Given the description of an element on the screen output the (x, y) to click on. 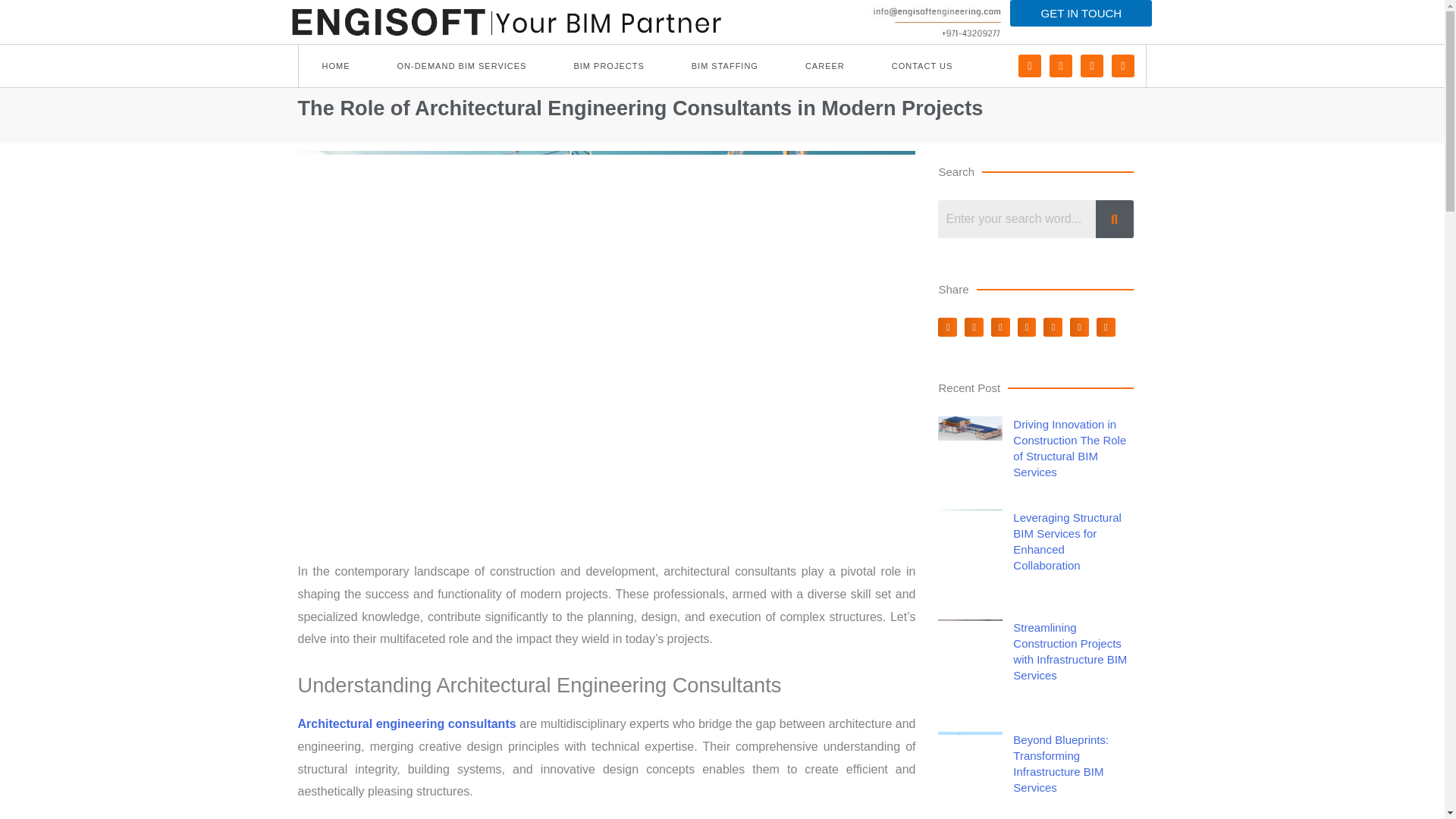
CAREER (824, 65)
Search (1015, 218)
GET IN TOUCH (1080, 13)
ON-DEMAND BIM SERVICES (461, 65)
BIM STAFFING (724, 65)
Phone-alt (1029, 65)
HOME (336, 65)
CONTACT US (921, 65)
BIM PROJECTS (608, 65)
